Given the description of an element on the screen output the (x, y) to click on. 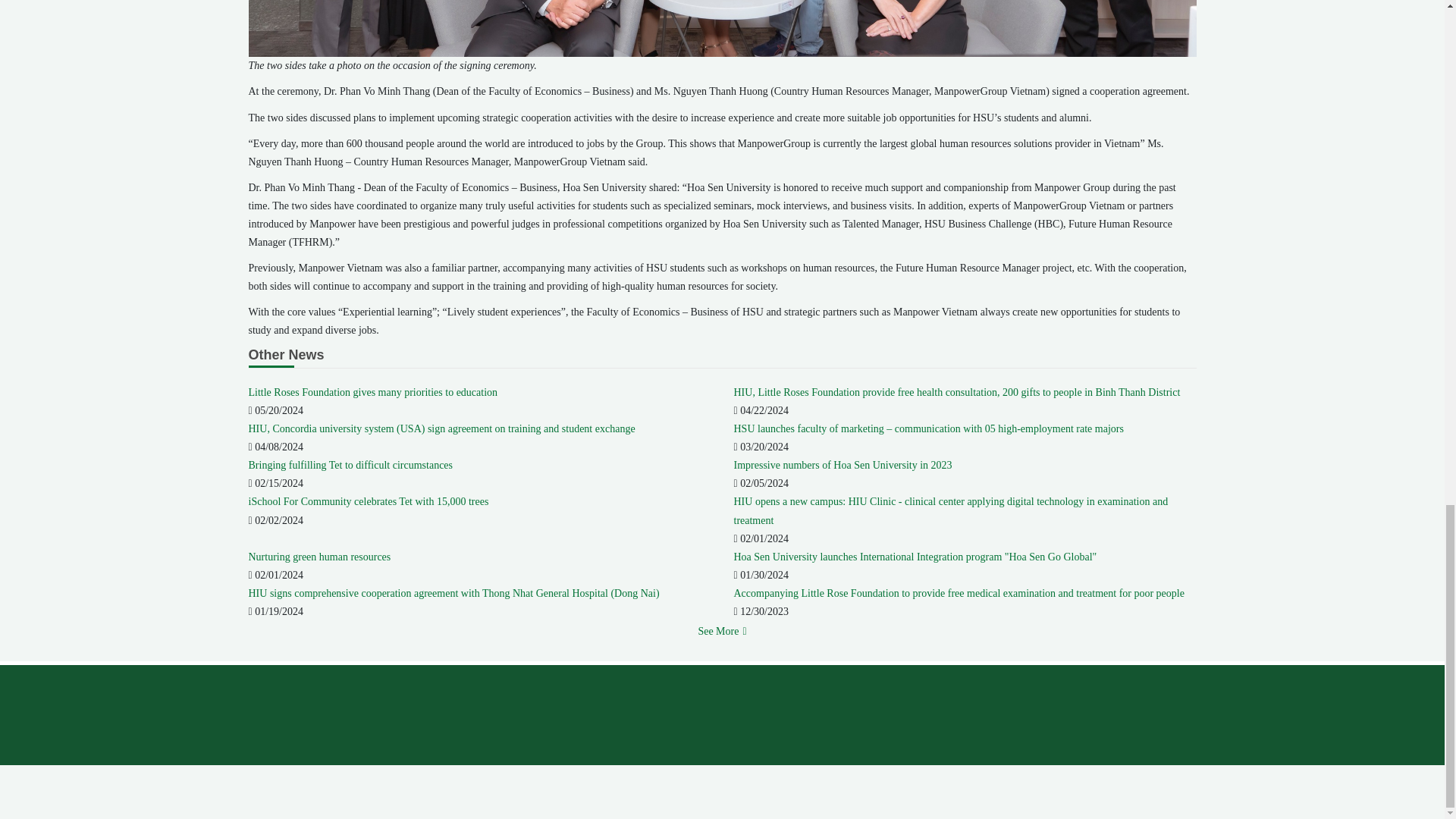
Load more items (721, 631)
Little Roses Foundation gives many priorities to education (372, 392)
See More (721, 631)
iSchool For Community celebrates Tet with 15,000 trees (368, 501)
Impressive numbers of Hoa Sen University in 2023 (842, 464)
Bringing fulfilling Tet to difficult circumstances (350, 464)
Nurturing green human resources (319, 556)
